Given the description of an element on the screen output the (x, y) to click on. 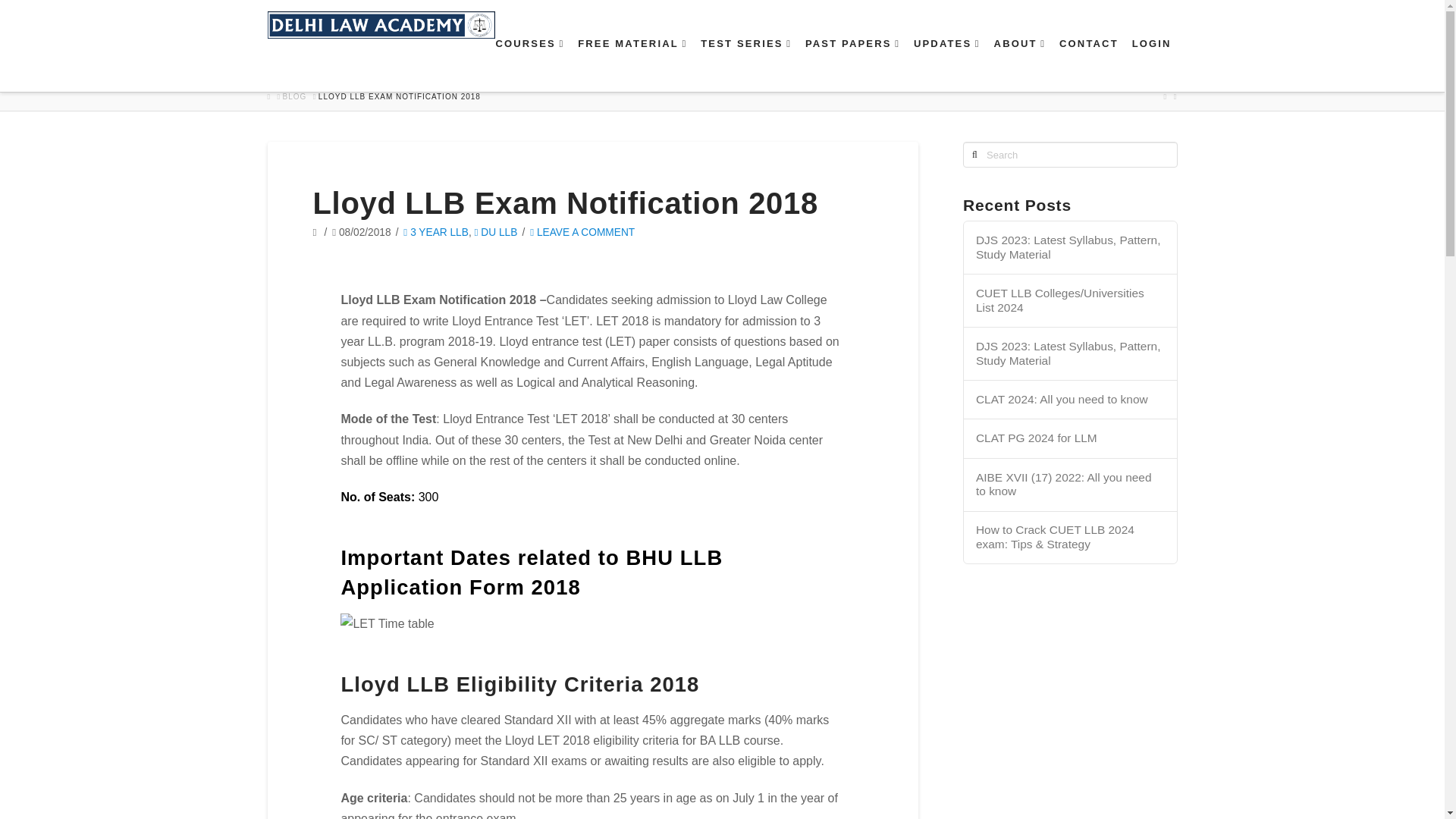
Online Courses for Law Entrance Exams (528, 64)
COURSES (528, 64)
ABOUT (1019, 64)
Online Mock Test Series (745, 64)
You Are Here (399, 96)
PAST PAPERS (851, 64)
FREE MATERIAL (631, 64)
TEST SERIES (745, 64)
UPDATES (946, 64)
